Given the description of an element on the screen output the (x, y) to click on. 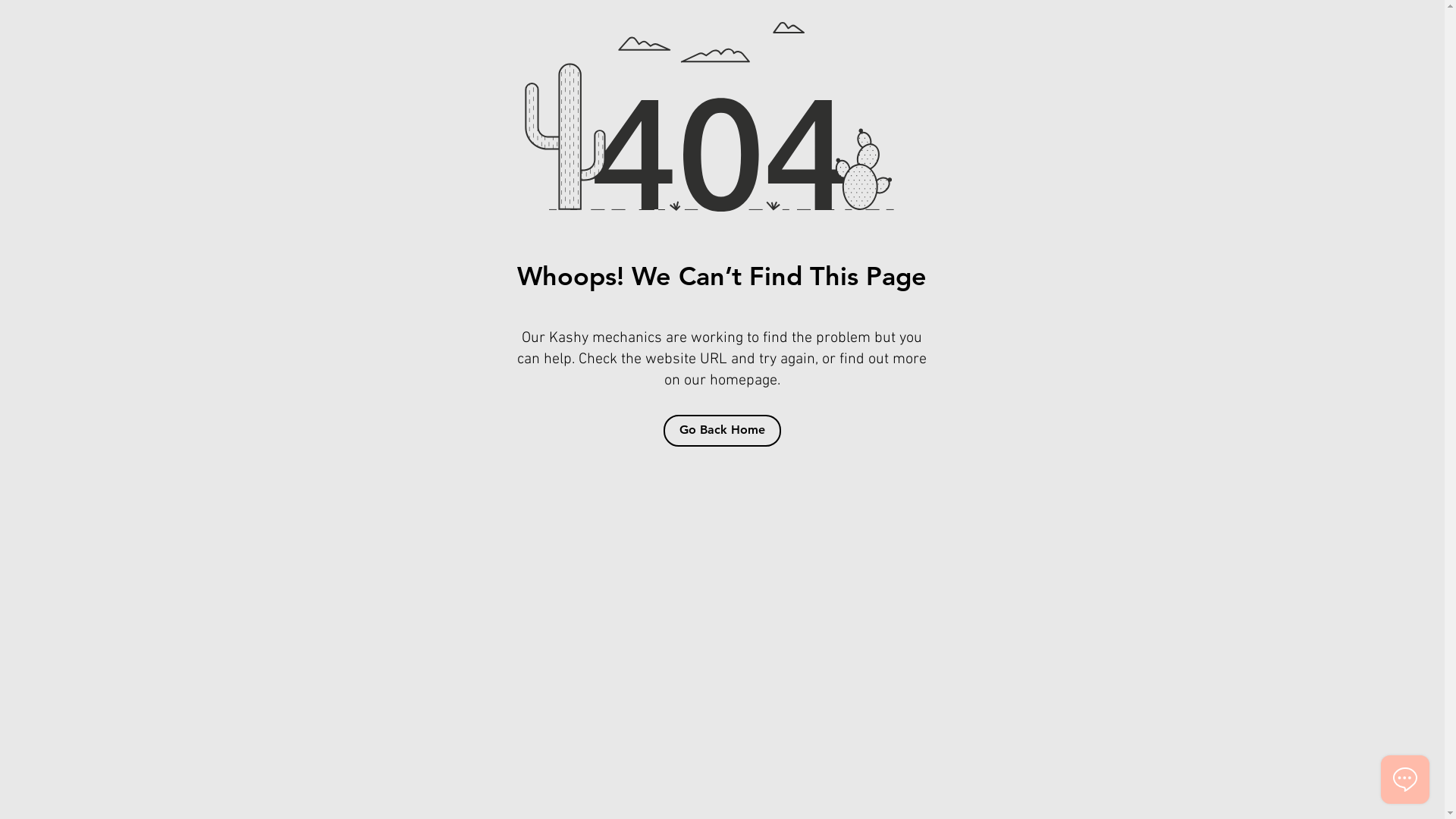
Go Back Home Element type: text (721, 430)
